Given the description of an element on the screen output the (x, y) to click on. 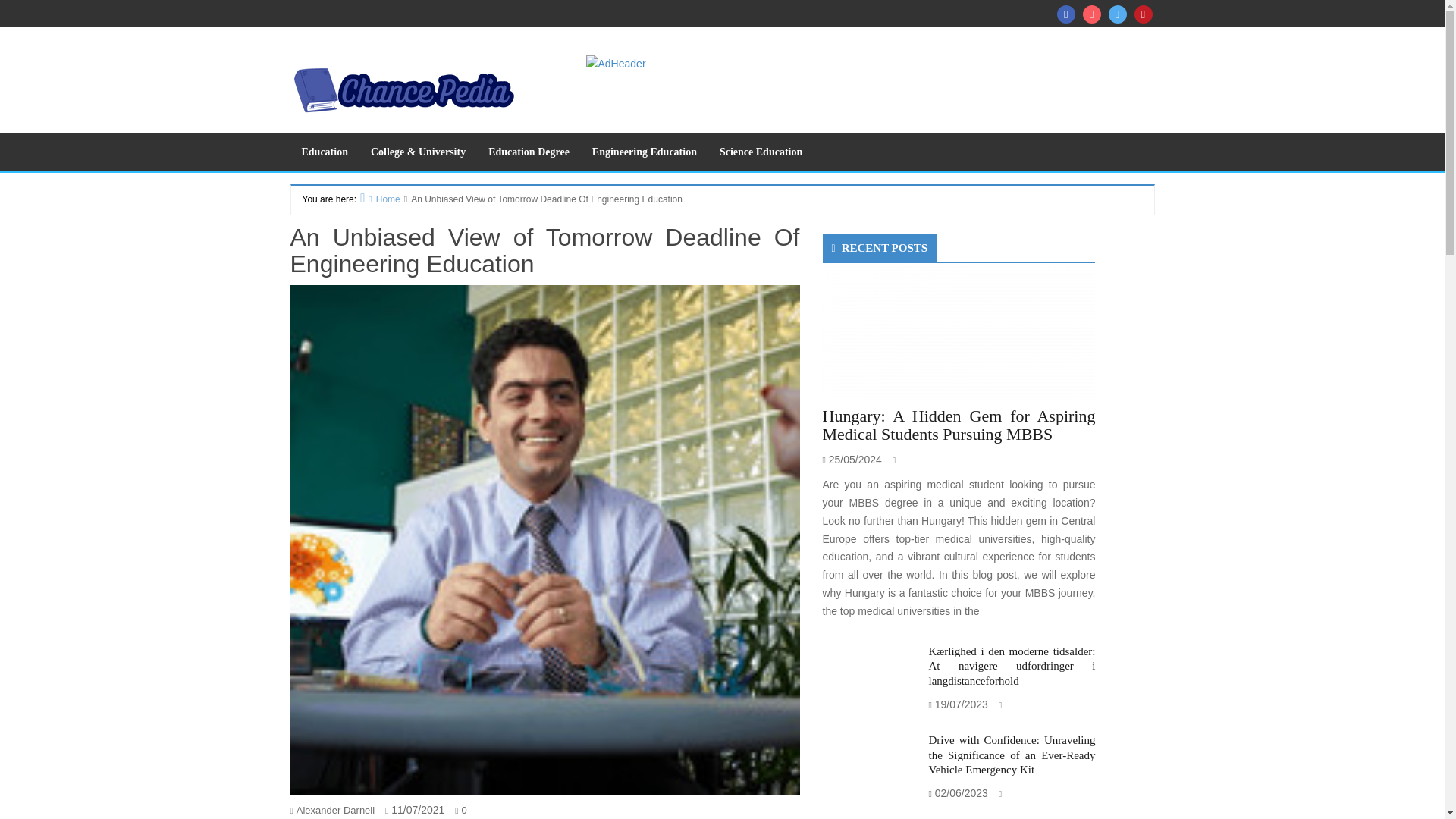
Engineering Education (643, 152)
Sunday, July 11, 2021, 1:56 pm (417, 809)
Saturday, May 25, 2024, 5:56 pm (855, 459)
Home (379, 197)
Education Degree (528, 152)
Education (323, 152)
Education (323, 152)
Pinterest (1143, 13)
